Given the description of an element on the screen output the (x, y) to click on. 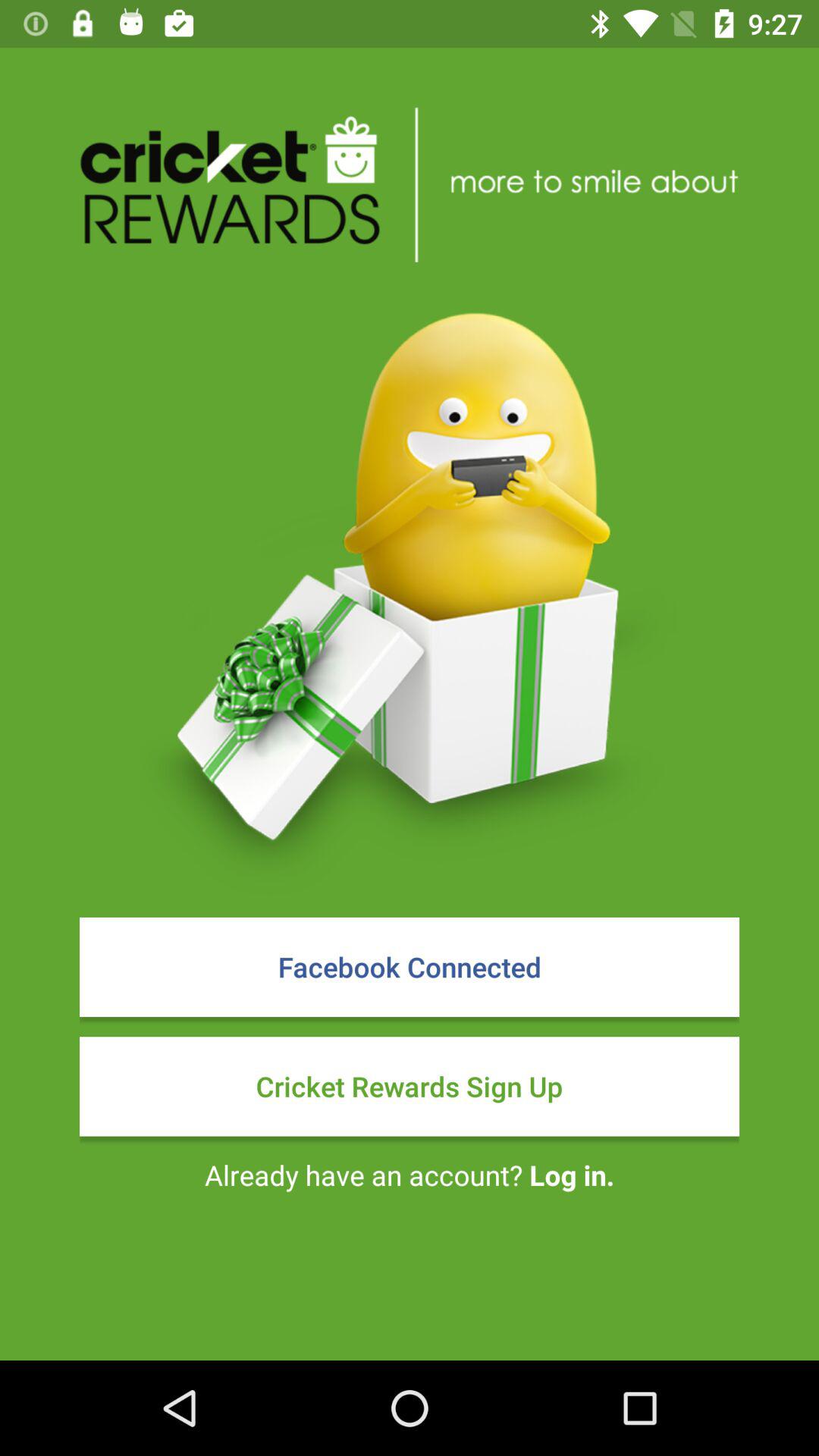
select item below facebook connected item (409, 1086)
